Given the description of an element on the screen output the (x, y) to click on. 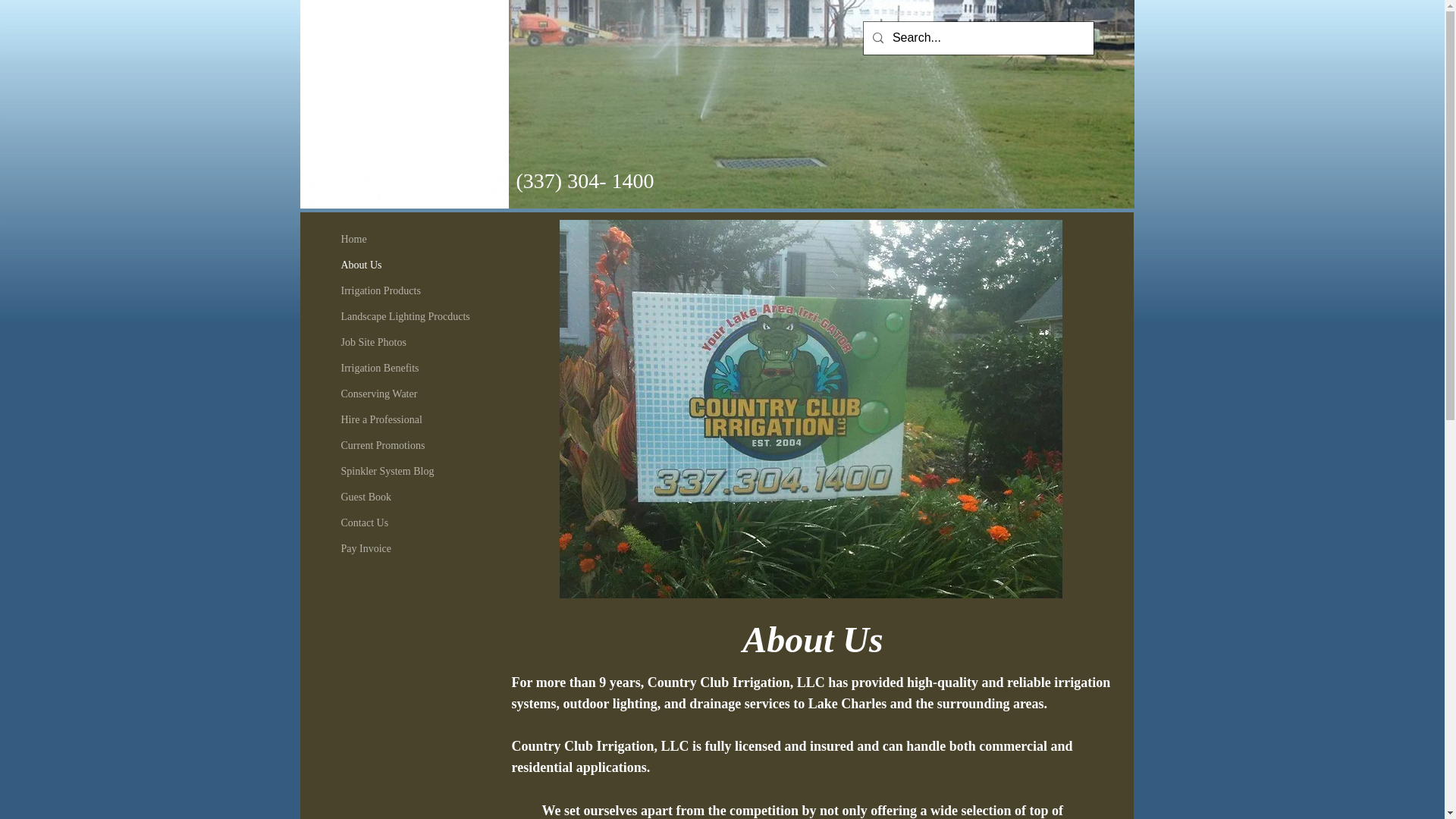
Conserving Water (379, 393)
Irrigation Benefits (379, 368)
Contact Us (364, 522)
Guest Book (365, 496)
About Us (361, 264)
Irrigation Products (380, 290)
Spinkler System Blog (387, 471)
Home (353, 238)
Landscape Lighting Procducts (405, 316)
Hire a Professional (381, 419)
